Given the description of an element on the screen output the (x, y) to click on. 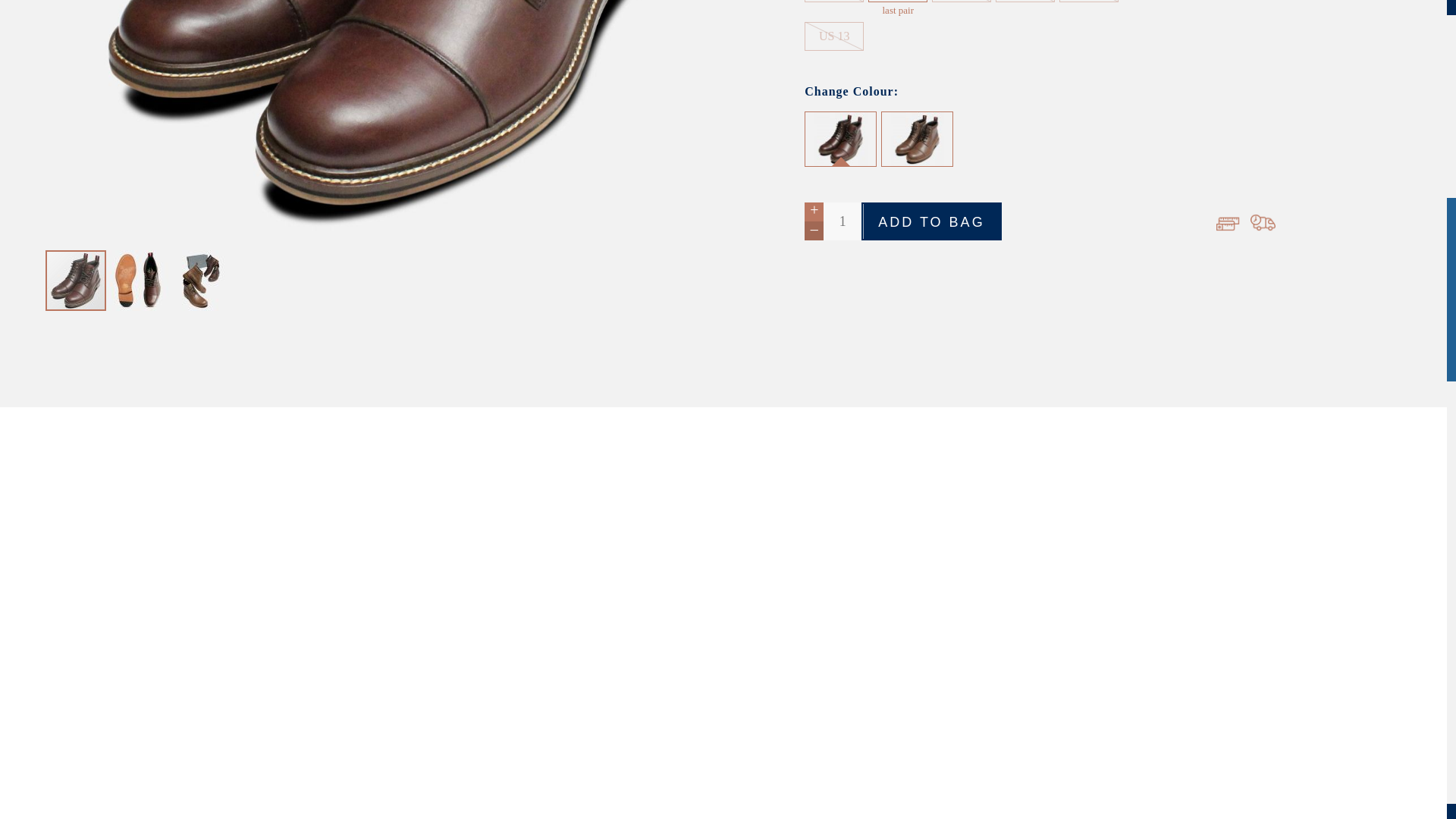
1 (842, 221)
